Given the description of an element on the screen output the (x, y) to click on. 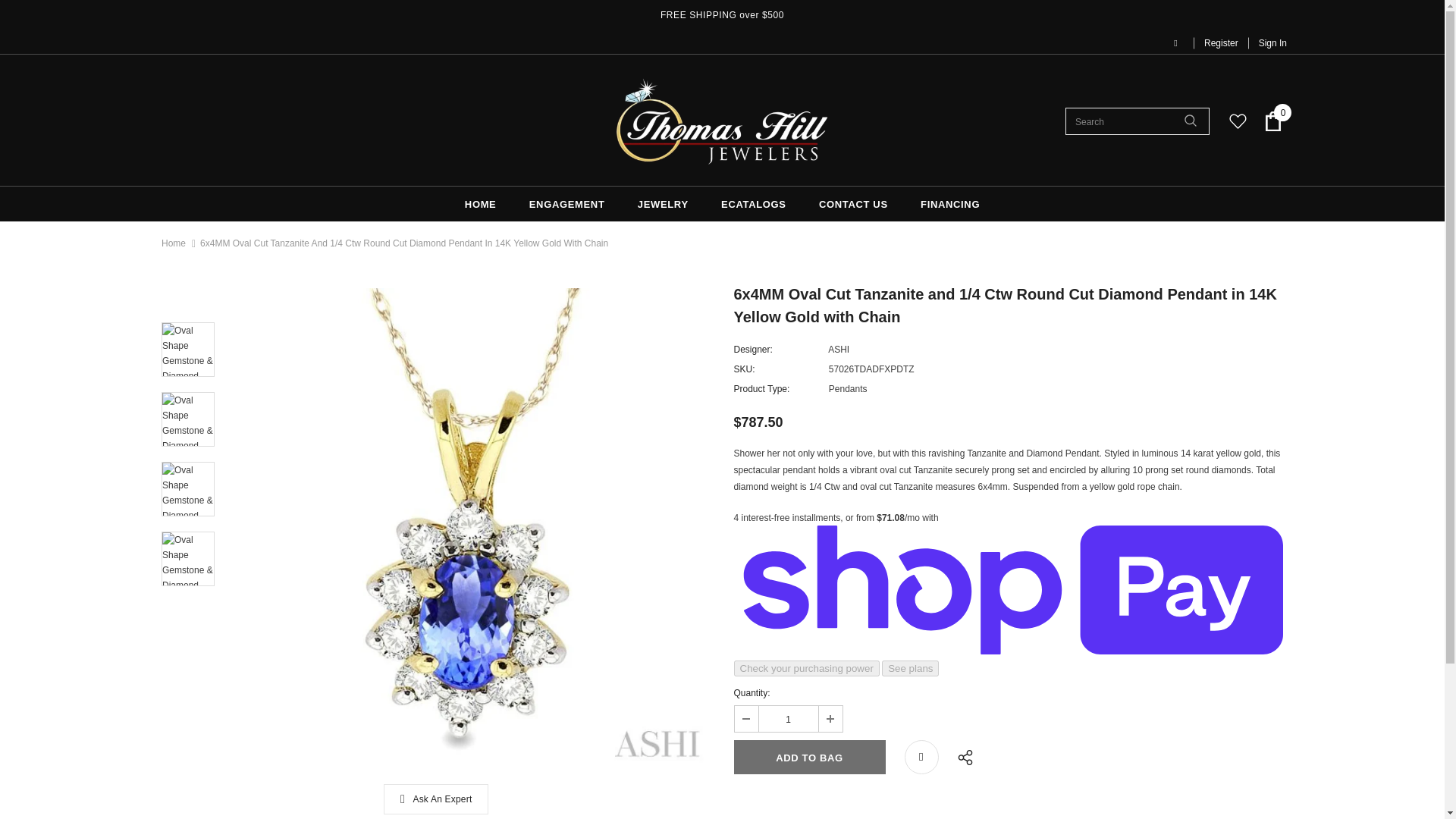
Add to Bag (809, 756)
1 (787, 718)
Sign In (1267, 43)
Register (1221, 43)
